Given the description of an element on the screen output the (x, y) to click on. 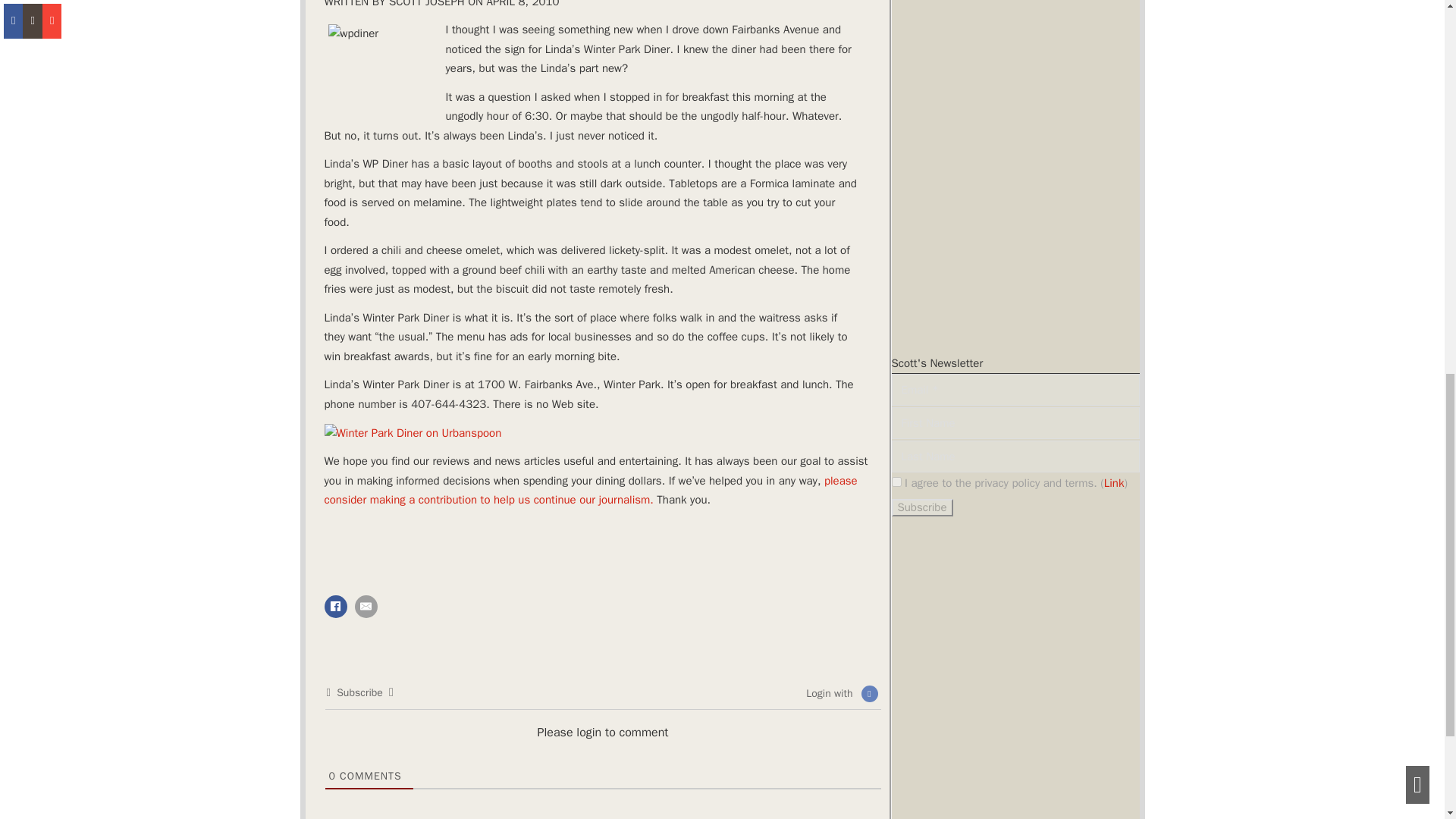
Linda's Winter Park Diner (384, 66)
1 (896, 481)
Linda's Winter Park Diner (413, 433)
Subscribe (922, 507)
